Given the description of an element on the screen output the (x, y) to click on. 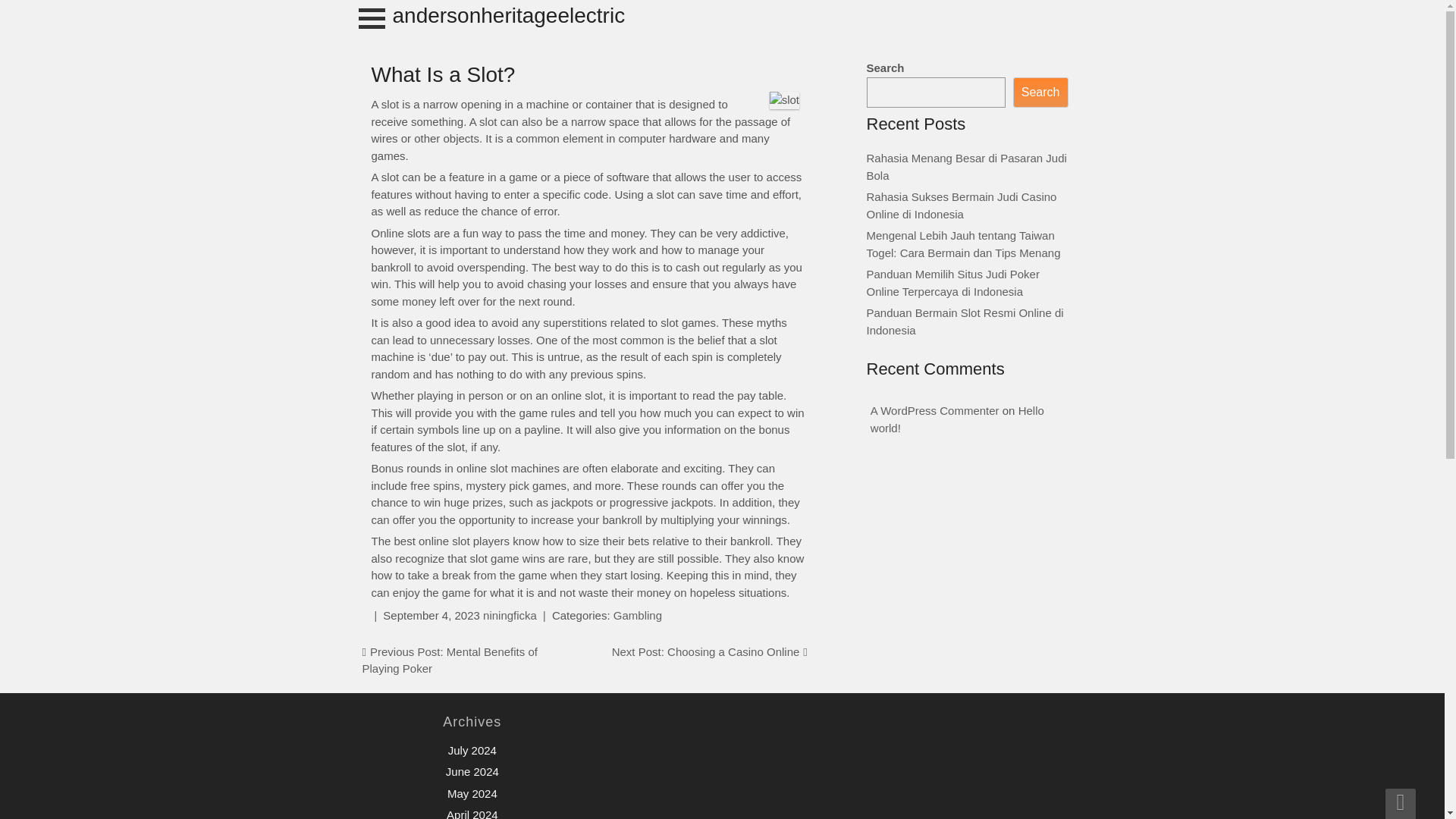
June 2024 (472, 771)
Gambling (637, 615)
Search (1040, 92)
Panduan Bermain Slot Resmi Online di Indonesia (964, 321)
Posts by niningficka (510, 615)
July 2024 (472, 749)
Previous Post: Mental Benefits of Playing Poker (449, 660)
andersonheritageelectric (509, 15)
Rahasia Menang Besar di Pasaran Judi Bola (965, 166)
April 2024 (471, 813)
May 2024 (471, 793)
Rahasia Sukses Bermain Judi Casino Online di Indonesia (961, 205)
niningficka (510, 615)
Next Post: Choosing a Casino Online (705, 651)
